Given the description of an element on the screen output the (x, y) to click on. 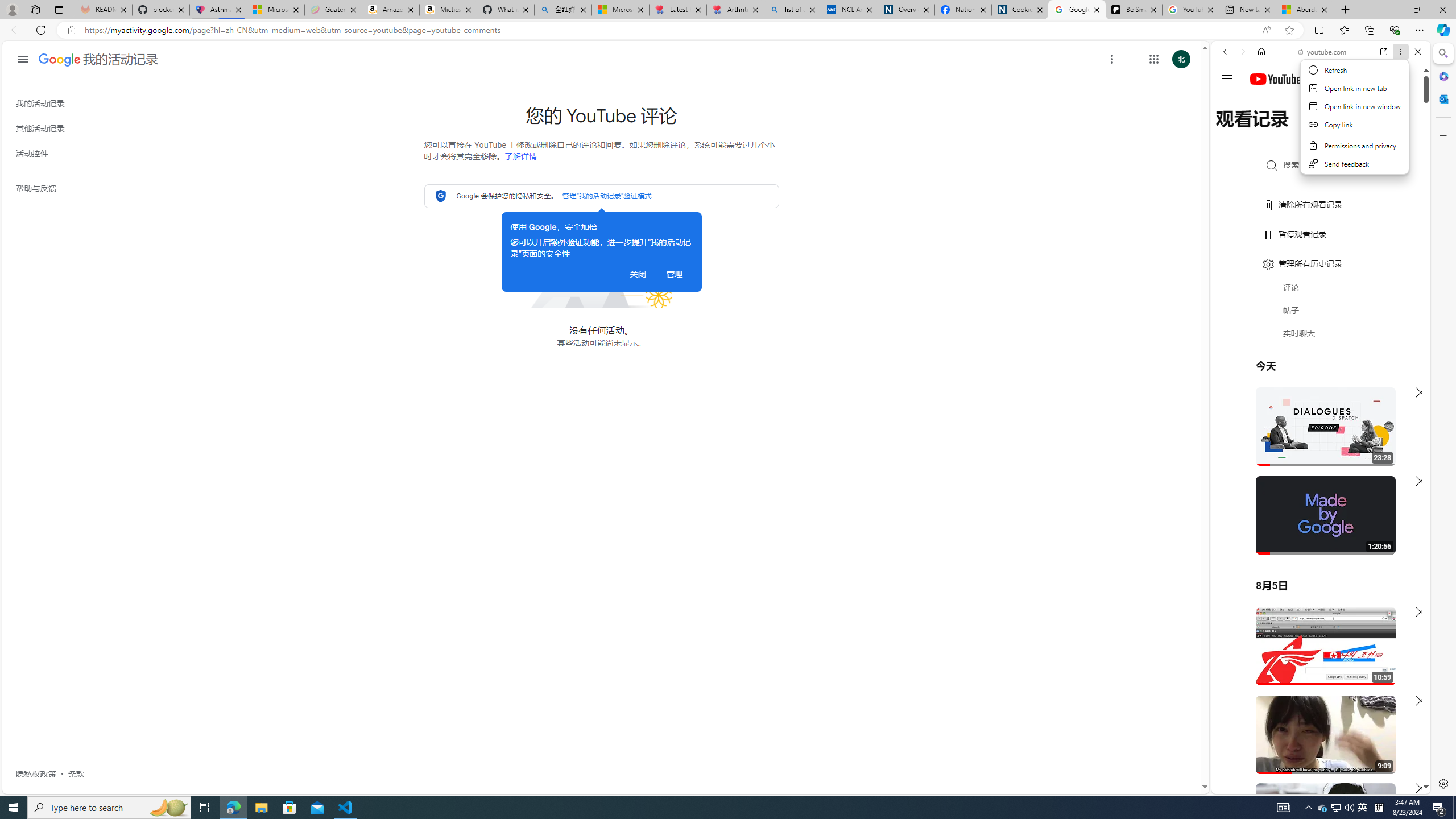
Class: gb_Vc (81, 434)
Aberdeen, Hong Kong SAR hourly forecast | Microsoft Weather (1304, 9)
Trailer #2 [HD] (1320, 337)
Search Filter, VIDEOS (1300, 129)
Search Filter, WEB (1230, 129)
This site scope (1259, 102)
